Given the description of an element on the screen output the (x, y) to click on. 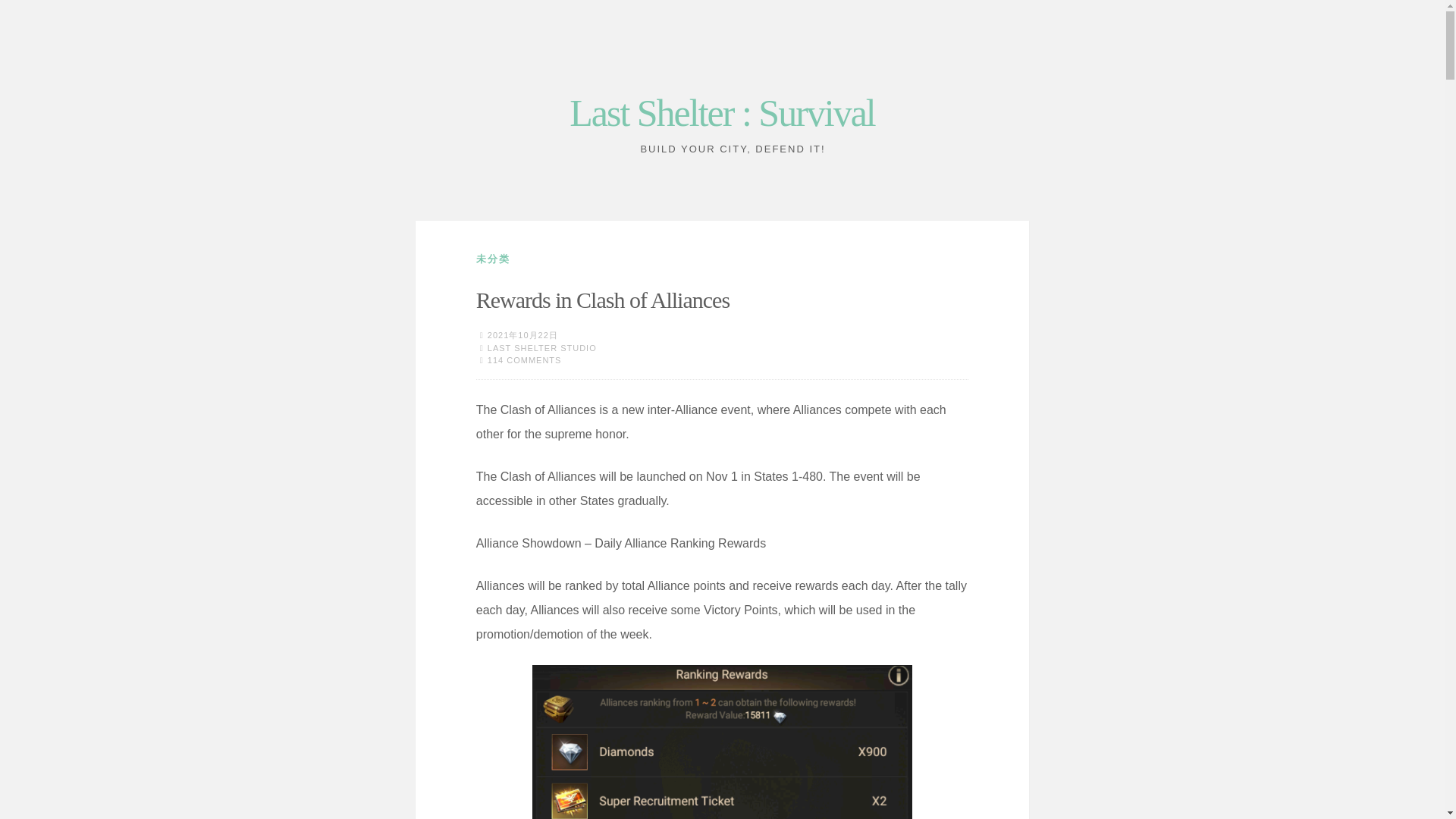
LAST SHELTER STUDIO (541, 347)
114 COMMENTS (524, 359)
Last Shelter : Survival (722, 112)
